Given the description of an element on the screen output the (x, y) to click on. 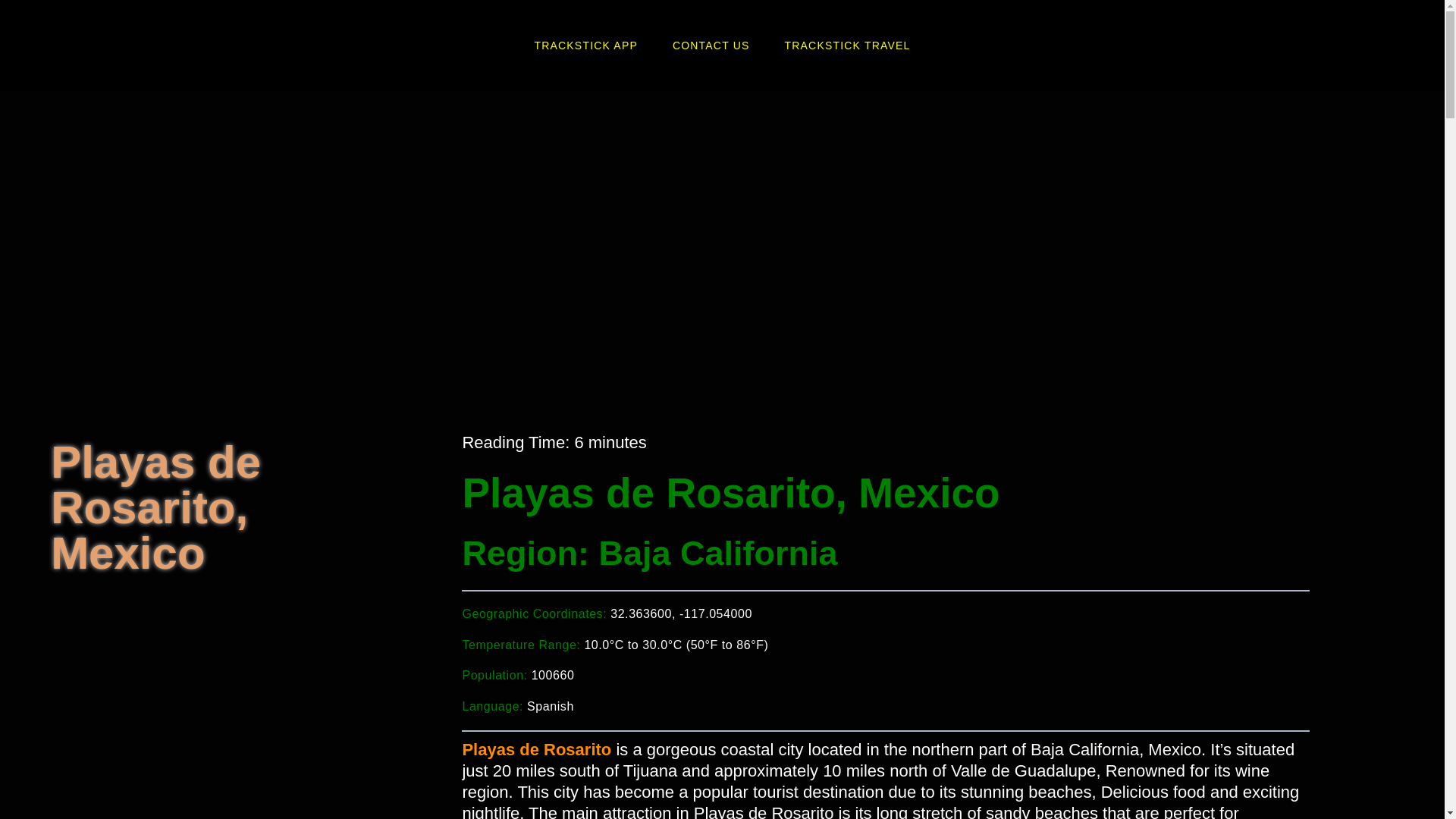
TRACKSTICK TRAVEL (847, 45)
TRACKSTICK APP (584, 45)
CONTACT US (711, 45)
